Given the description of an element on the screen output the (x, y) to click on. 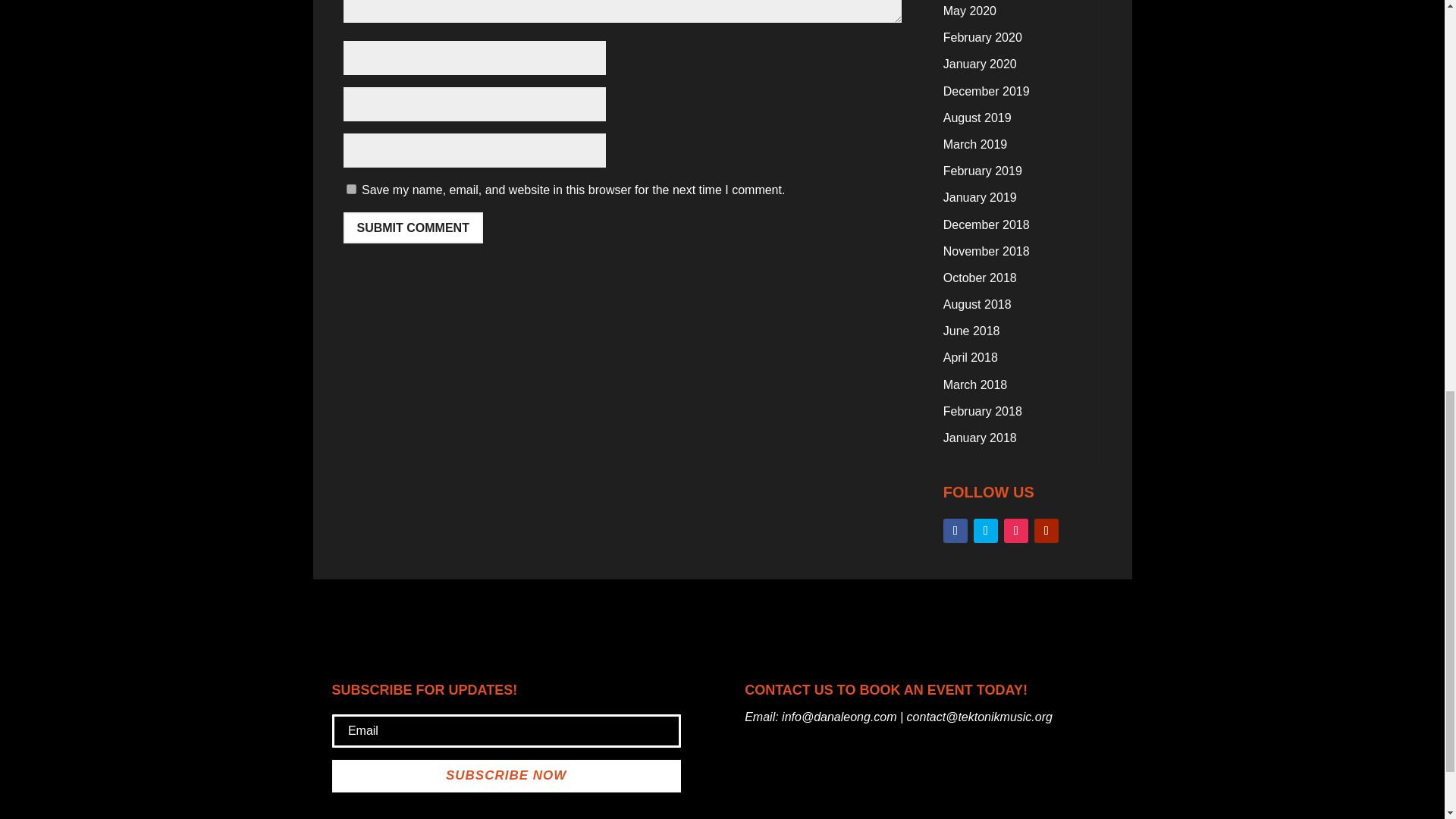
Follow on Instagram (1015, 530)
Follow on Youtube (1045, 530)
Follow on Twitter (985, 530)
yes (350, 189)
Follow on Facebook (955, 530)
